Given the description of an element on the screen output the (x, y) to click on. 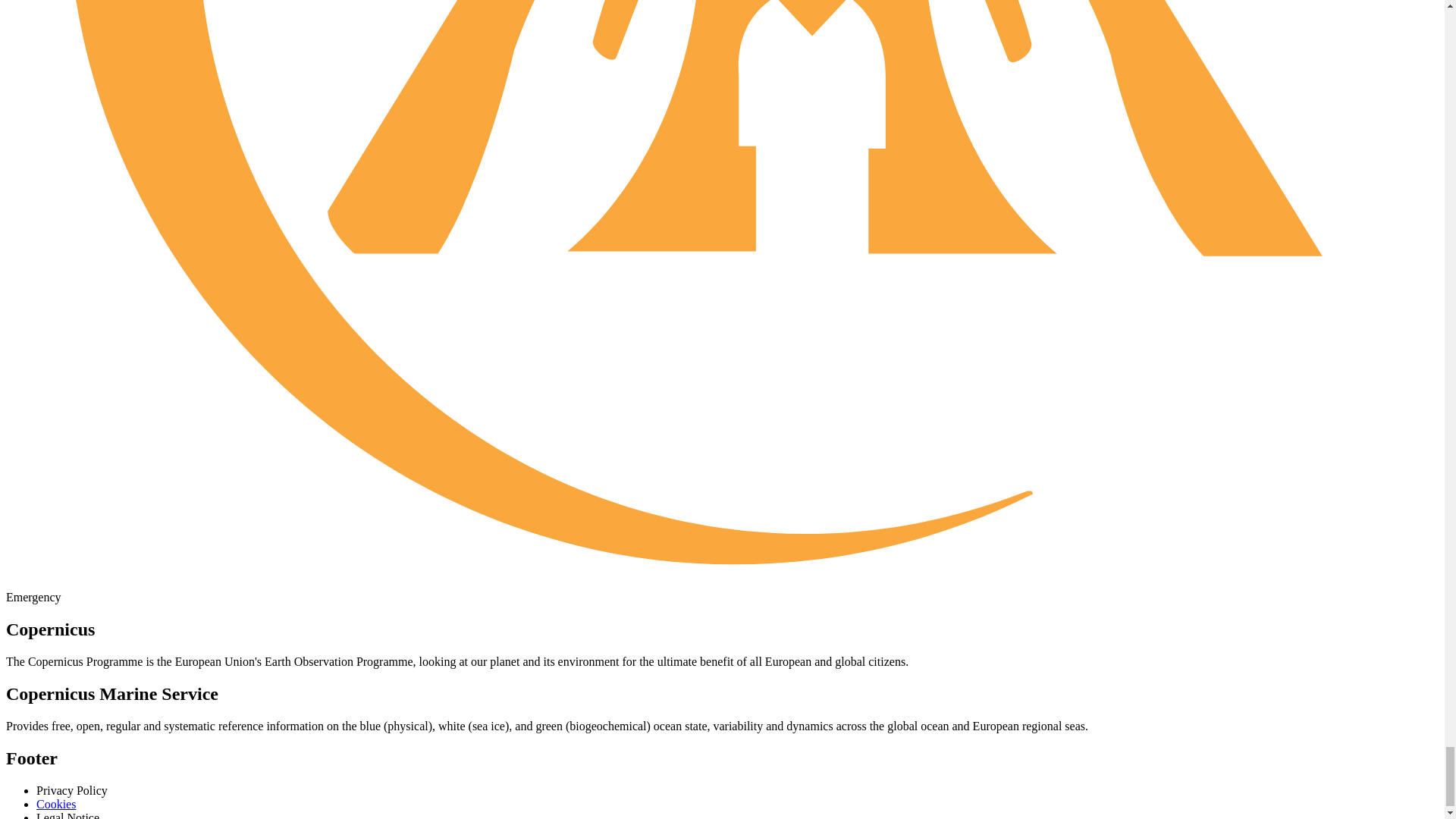
Copernicus Programme (84, 661)
Cookies (55, 803)
